Given the description of an element on the screen output the (x, y) to click on. 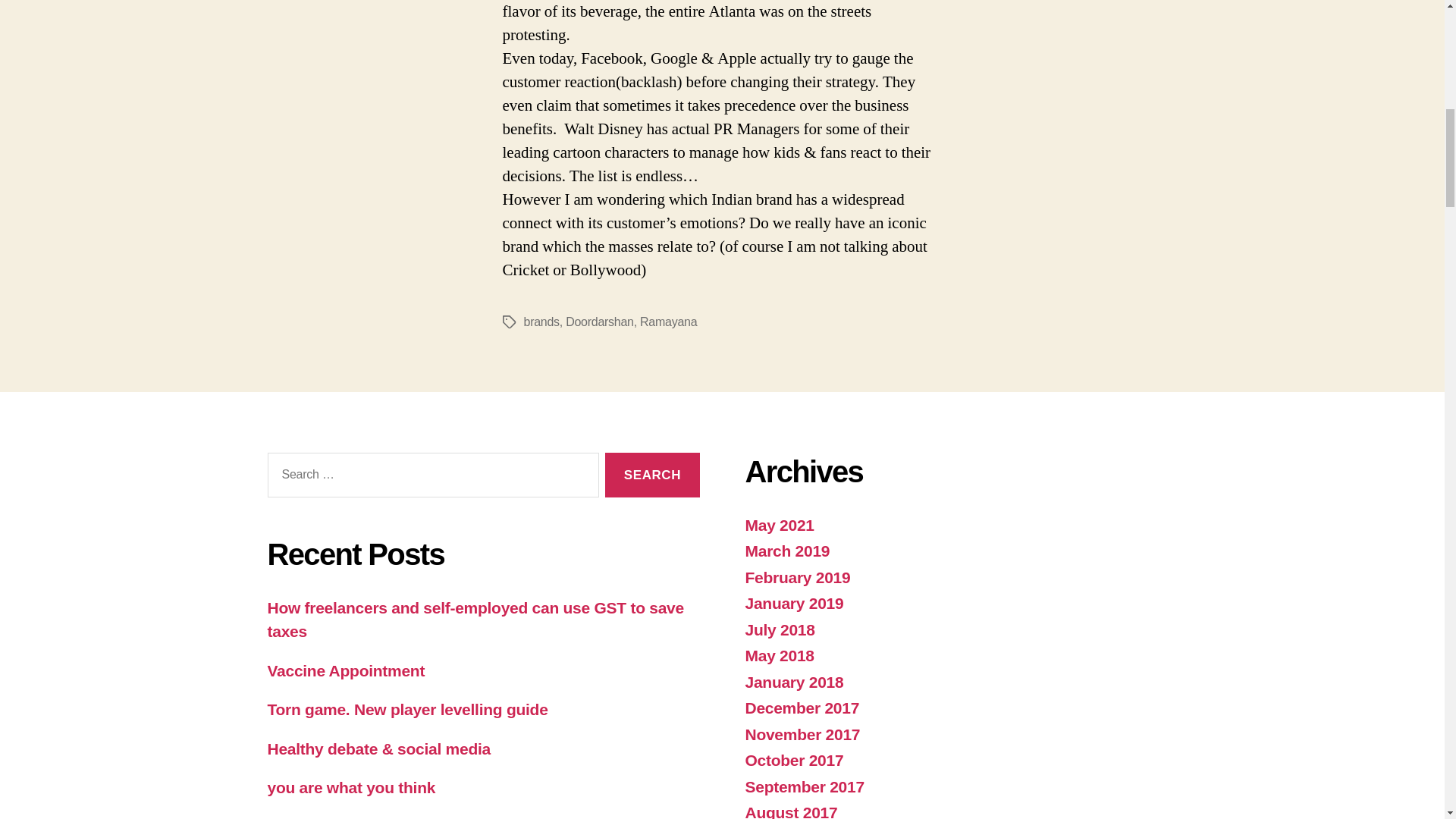
Search (651, 474)
Search (651, 474)
Doordarshan (599, 321)
May 2021 (778, 524)
Search (651, 474)
brands (540, 321)
January 2019 (793, 602)
March 2019 (786, 550)
February 2019 (797, 577)
you are what you think (350, 787)
